Given the description of an element on the screen output the (x, y) to click on. 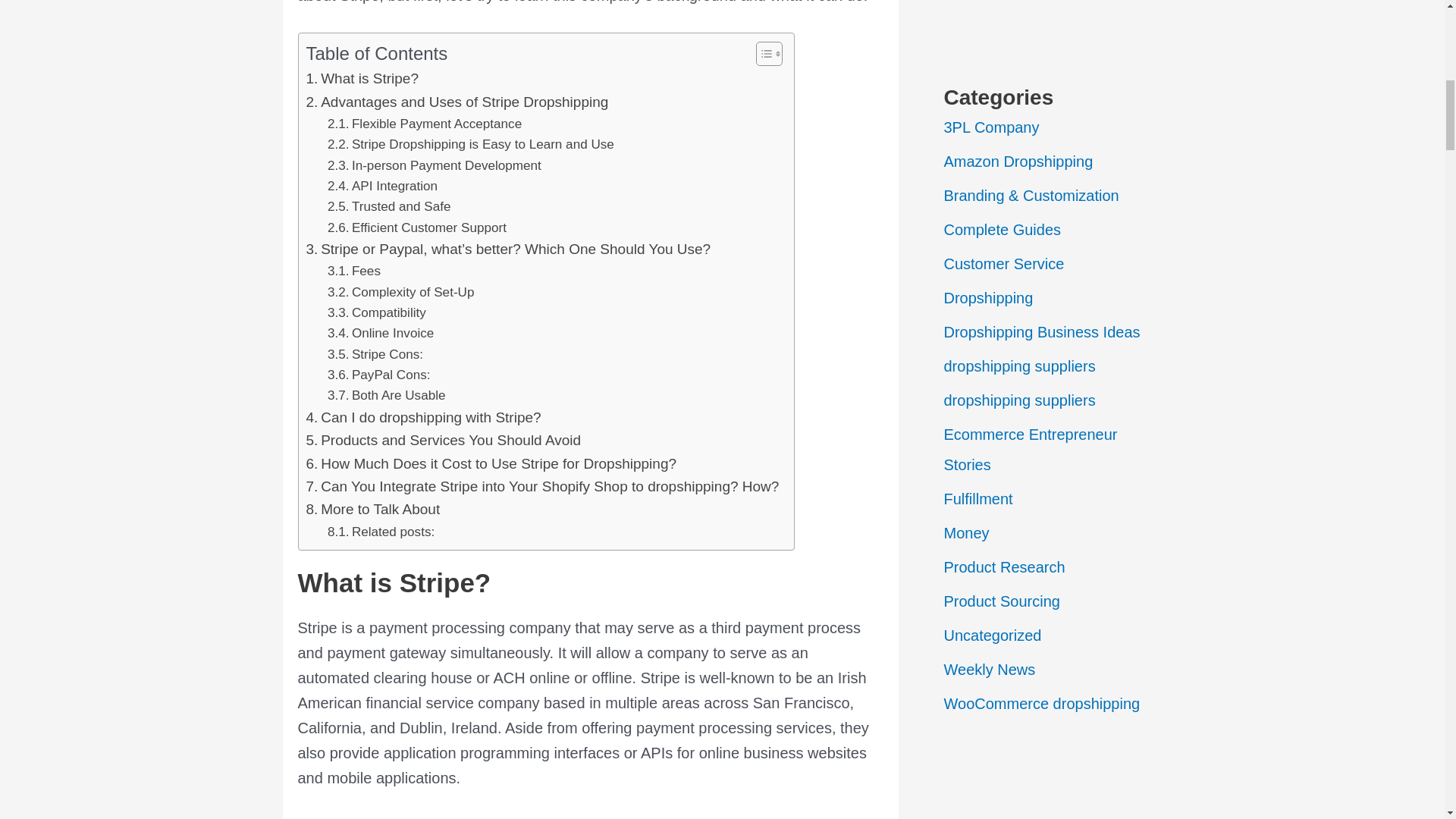
In-person Payment Development (434, 165)
Stripe Dropshipping is Easy to Learn and Use (470, 144)
Flexible Payment Acceptance (424, 123)
What is Stripe? (362, 78)
Advantages and Uses of Stripe Dropshipping (456, 101)
Trusted and Safe (388, 206)
API Integration (382, 186)
Efficient Customer Support (416, 227)
Advantages and Uses of Stripe Dropshipping (456, 101)
What is Stripe? (362, 78)
Flexible Payment Acceptance (424, 123)
Stripe Dropshipping is Easy to Learn and Use (470, 144)
Fees (353, 271)
Trusted and Safe (388, 206)
Online Invoice (380, 332)
